Given the description of an element on the screen output the (x, y) to click on. 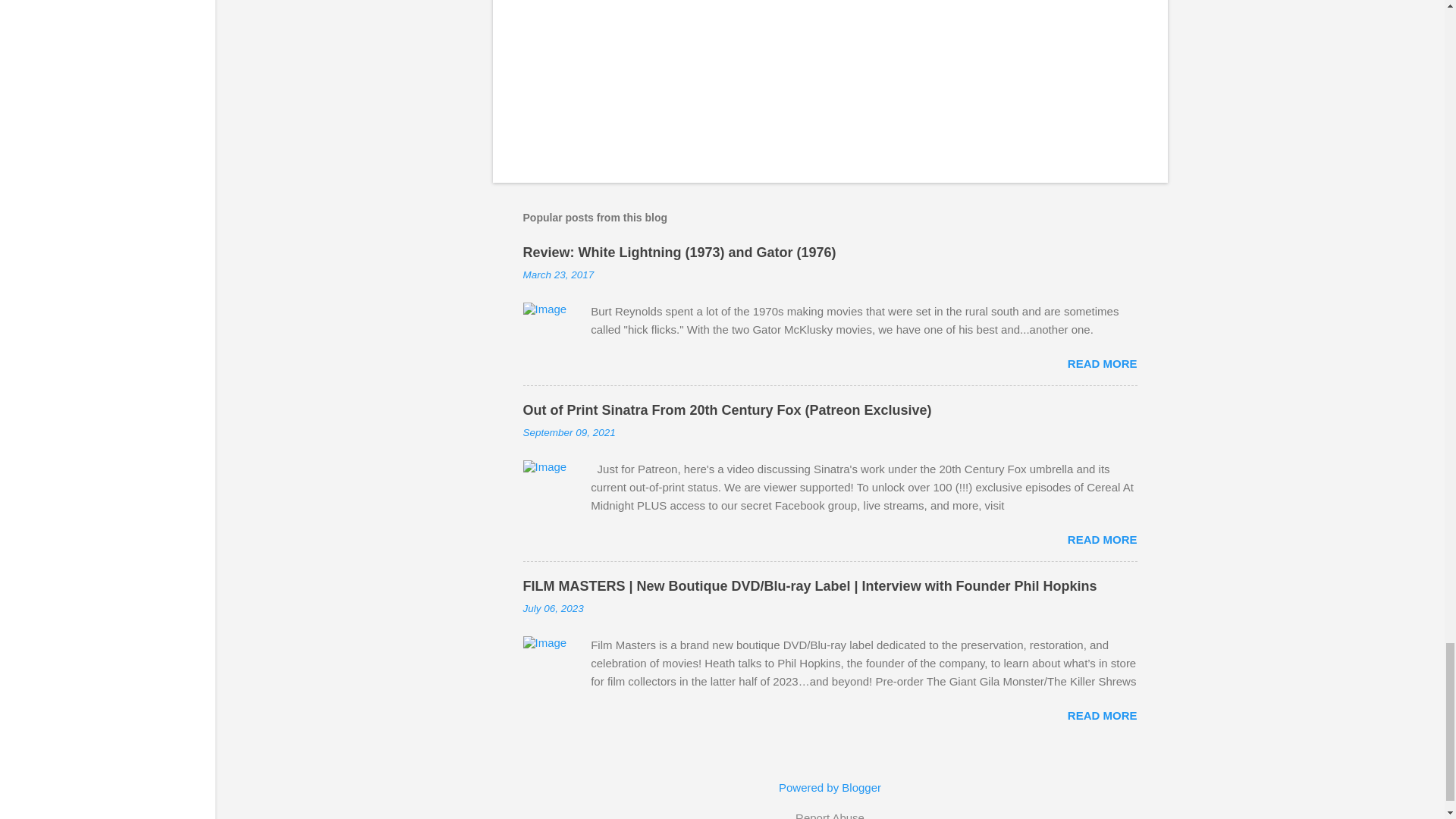
September 09, 2021 (568, 432)
READ MORE (1102, 363)
permanent link (558, 274)
March 23, 2017 (558, 274)
